Given the description of an element on the screen output the (x, y) to click on. 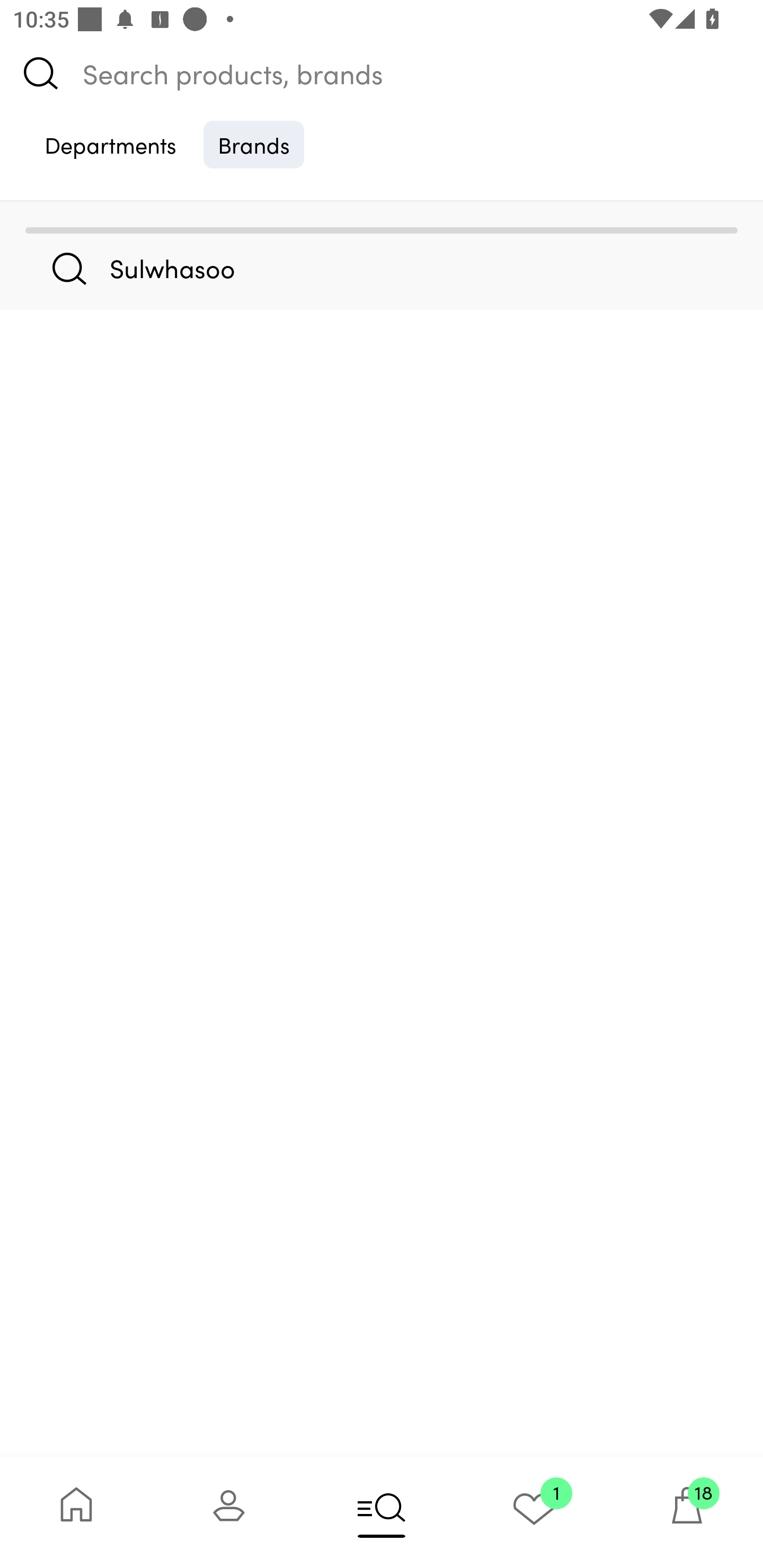
Search products, brands (381, 72)
Departments (110, 143)
Brands (253, 143)
1 (533, 1512)
18 (686, 1512)
